Given the description of an element on the screen output the (x, y) to click on. 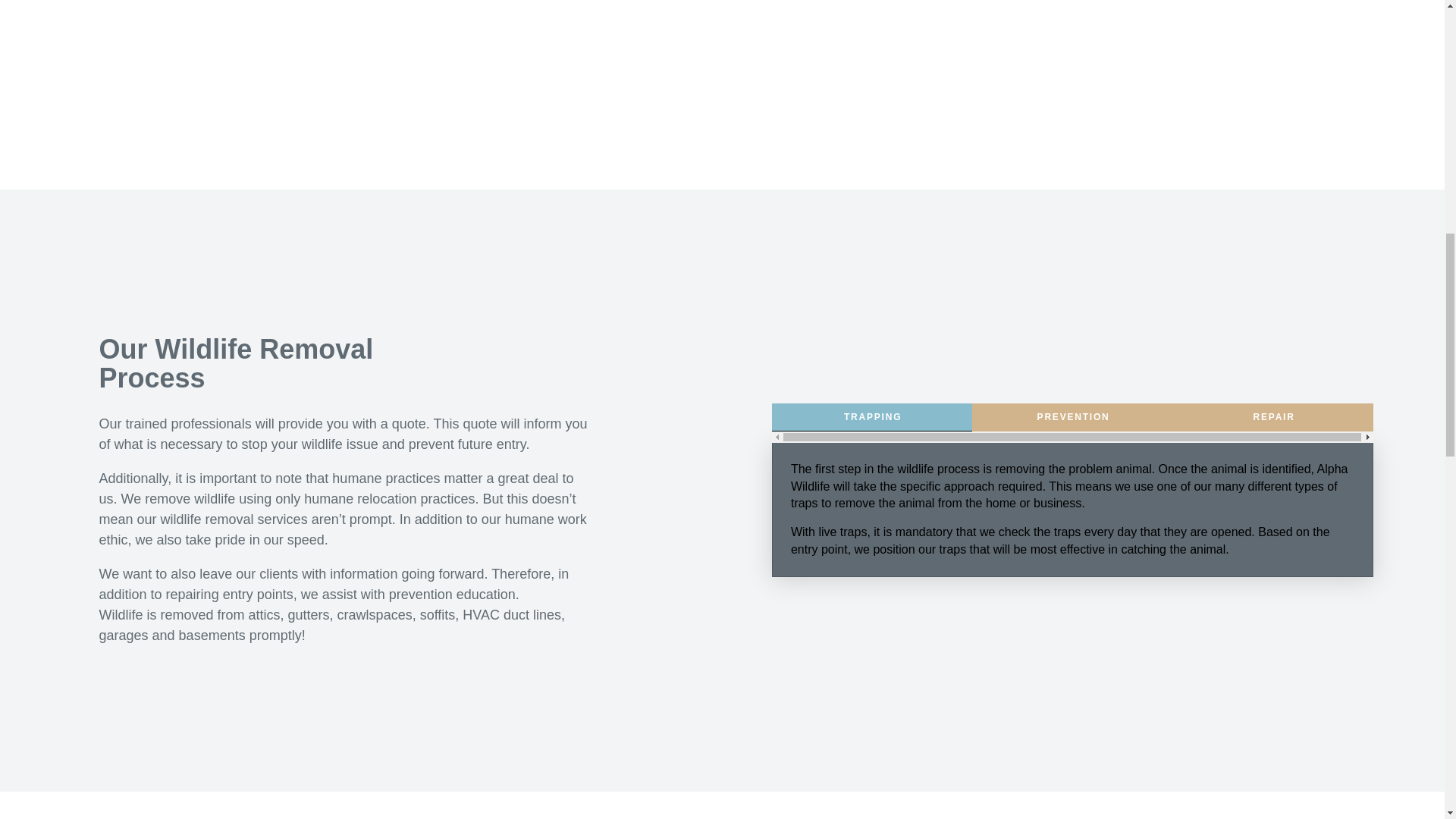
REPAIR (1273, 417)
fullsizerender scaled (1080, 58)
PREVENTION (1072, 417)
TRAPPING (871, 417)
